Given the description of an element on the screen output the (x, y) to click on. 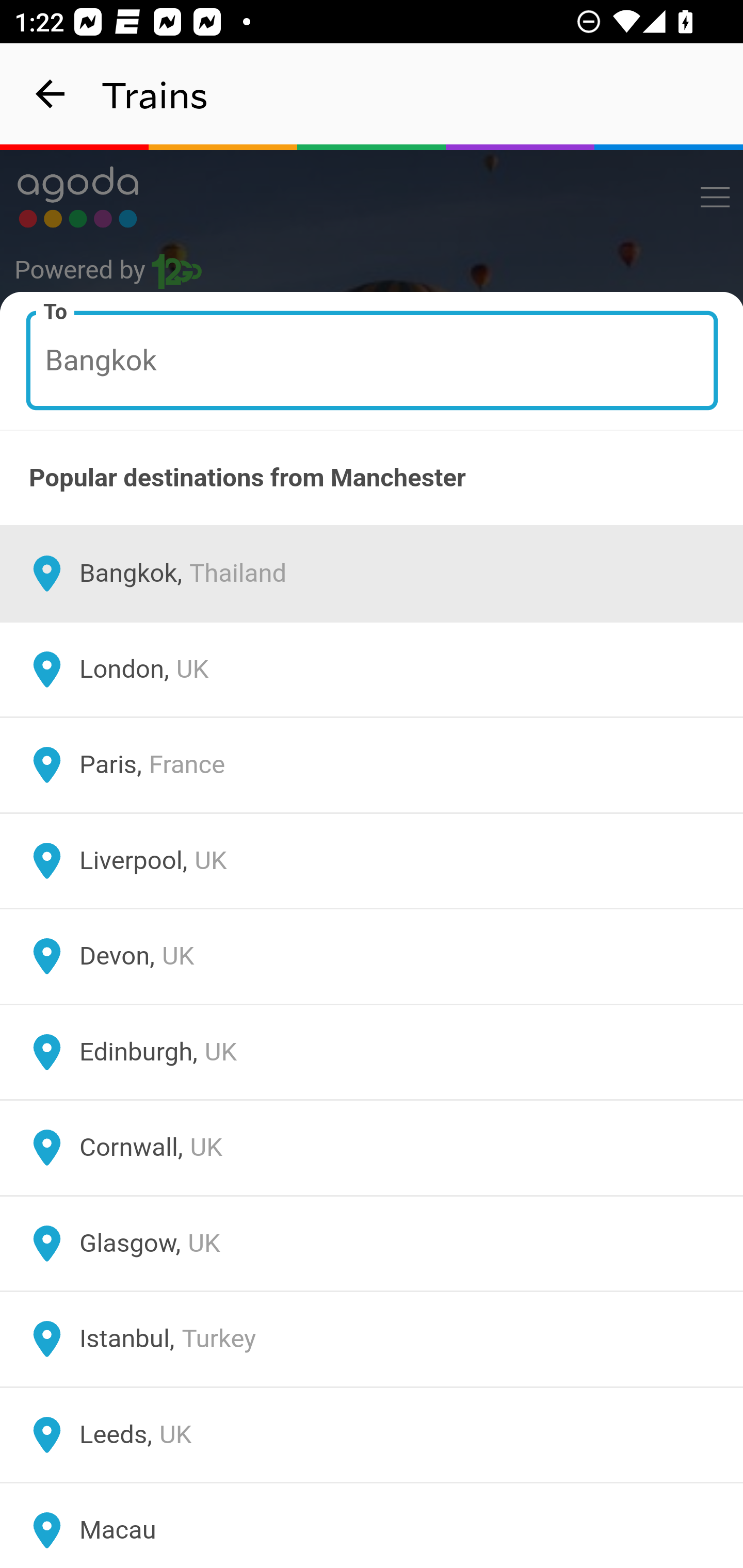
navigation_button (50, 93)
Popular destinations from Manchester (371, 477)
Bangkok,Thailand (371, 573)
London,UK (371, 669)
Paris,France (371, 764)
Liverpool,UK (371, 860)
Devon,UK (371, 956)
Edinburgh,UK (371, 1051)
Cornwall,UK (371, 1147)
Glasgow,UK (371, 1243)
Istanbul,Turkey (371, 1339)
Leeds,UK (371, 1434)
Macau (371, 1524)
